Given the description of an element on the screen output the (x, y) to click on. 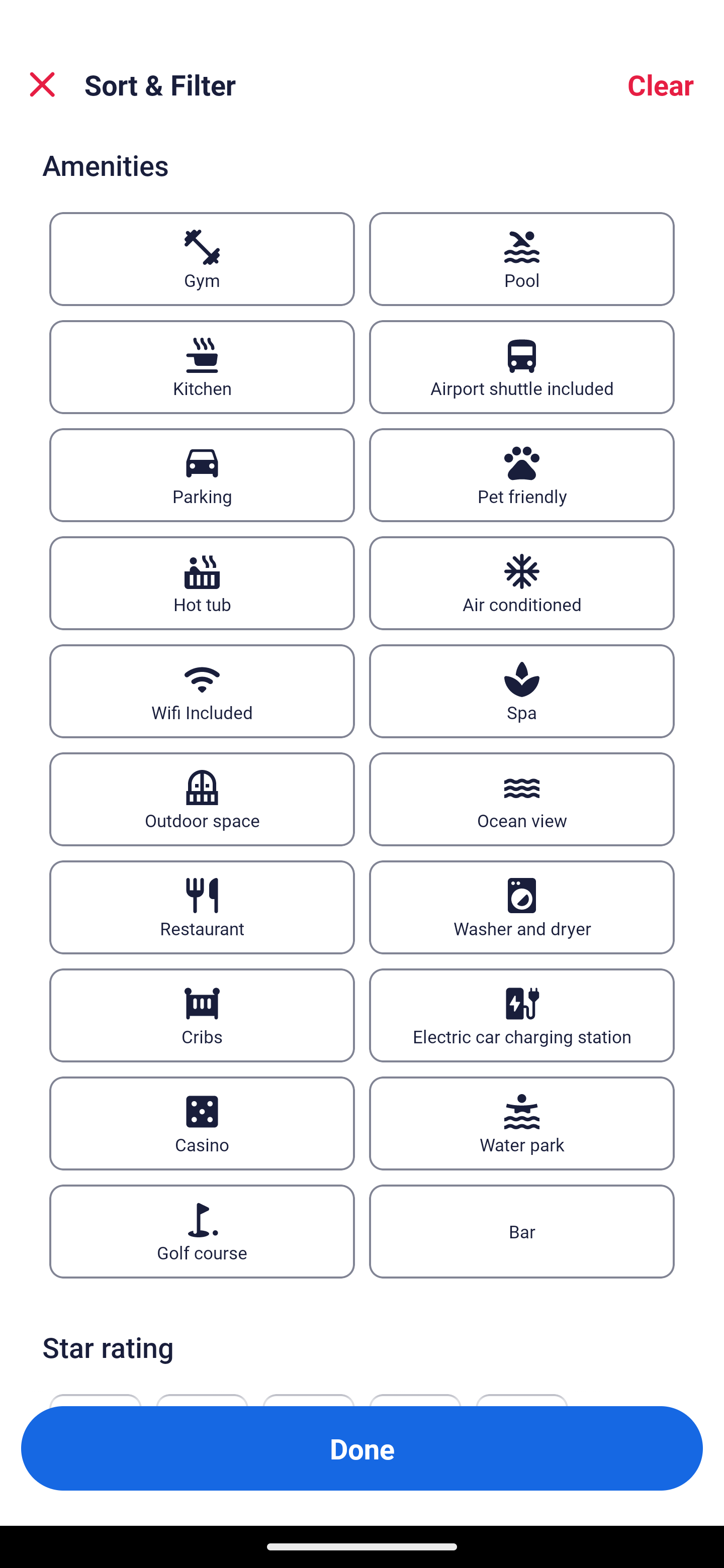
Close Sort and Filter (42, 84)
Clear (660, 84)
Gym (201, 258)
Pool (521, 258)
Kitchen (201, 366)
Airport shuttle included (521, 366)
Parking (201, 475)
Pet friendly (521, 475)
Hot tub (201, 583)
Air conditioned (521, 583)
Wifi Included (201, 691)
Spa (521, 691)
Outdoor space (201, 799)
Ocean view (521, 799)
Restaurant (201, 907)
Washer and dryer (521, 907)
Cribs (201, 1016)
Electric car charging station (521, 1016)
Casino (201, 1123)
Water park (521, 1123)
Golf course (201, 1230)
Bar (521, 1230)
Apply and close Sort and Filter Done (361, 1448)
